Given the description of an element on the screen output the (x, y) to click on. 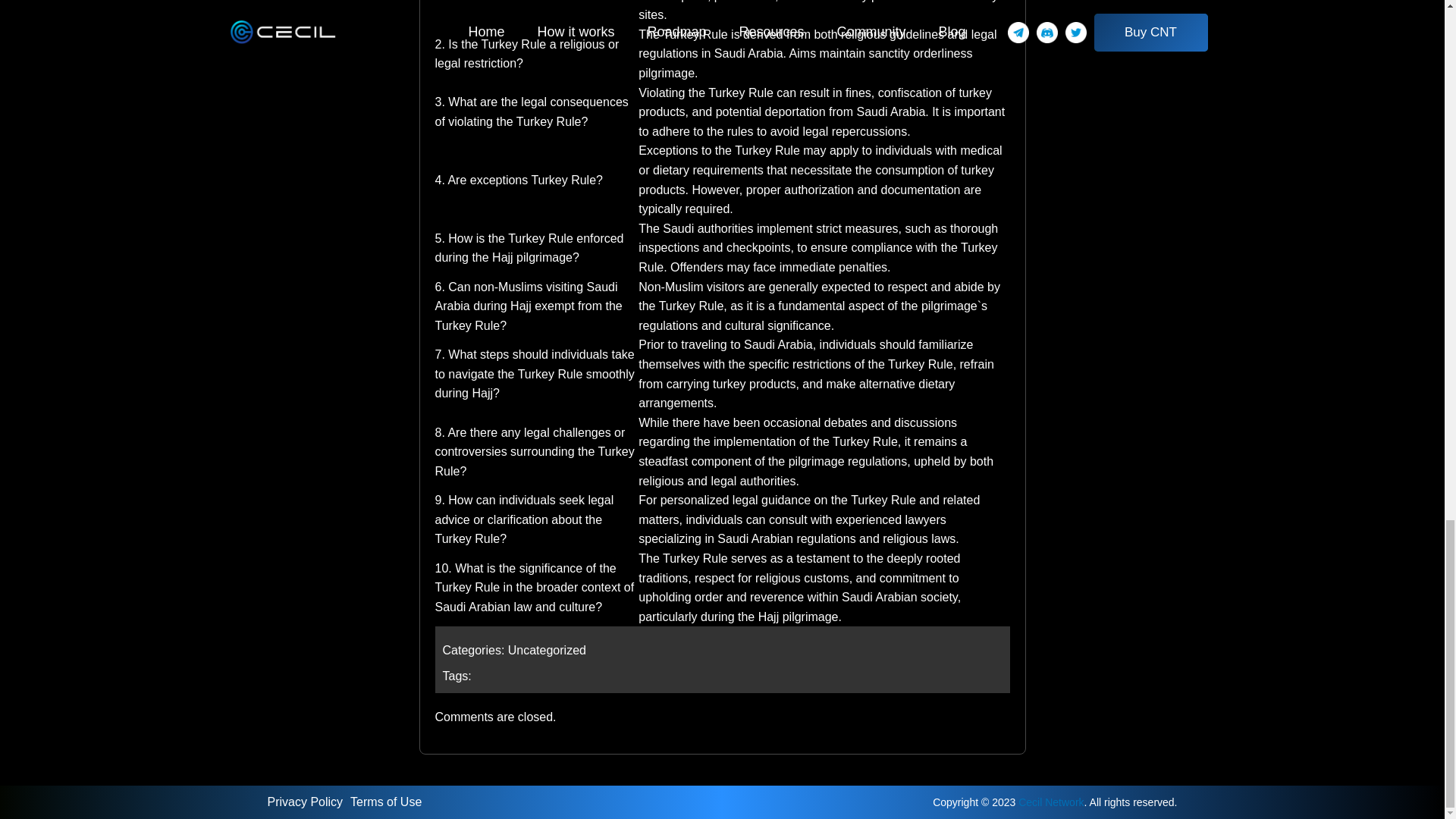
Terms of Use (389, 801)
Cecil Network (1050, 802)
Privacy Policy (308, 801)
